Given the description of an element on the screen output the (x, y) to click on. 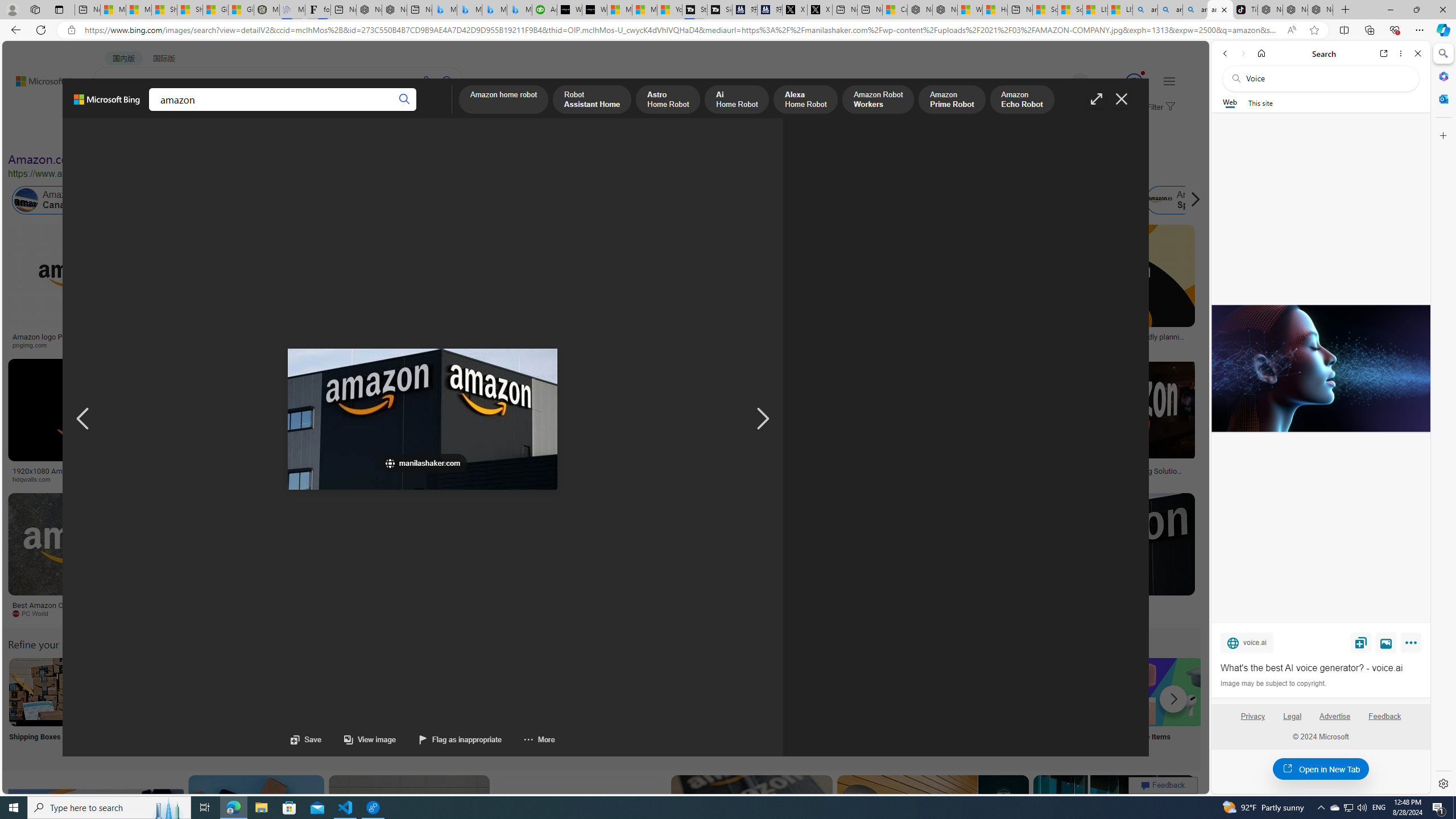
Log into My Account (268, 706)
Amazon Kids (239, 200)
Amazon Mini TV (794, 691)
More (528, 739)
Save (306, 739)
Back to Bing search (41, 78)
Color (173, 135)
Amazon Jobs Near Me (342, 691)
downdetector.ae (937, 344)
Amazon down? Current status and problems | Downdetector (937, 340)
